Given the description of an element on the screen output the (x, y) to click on. 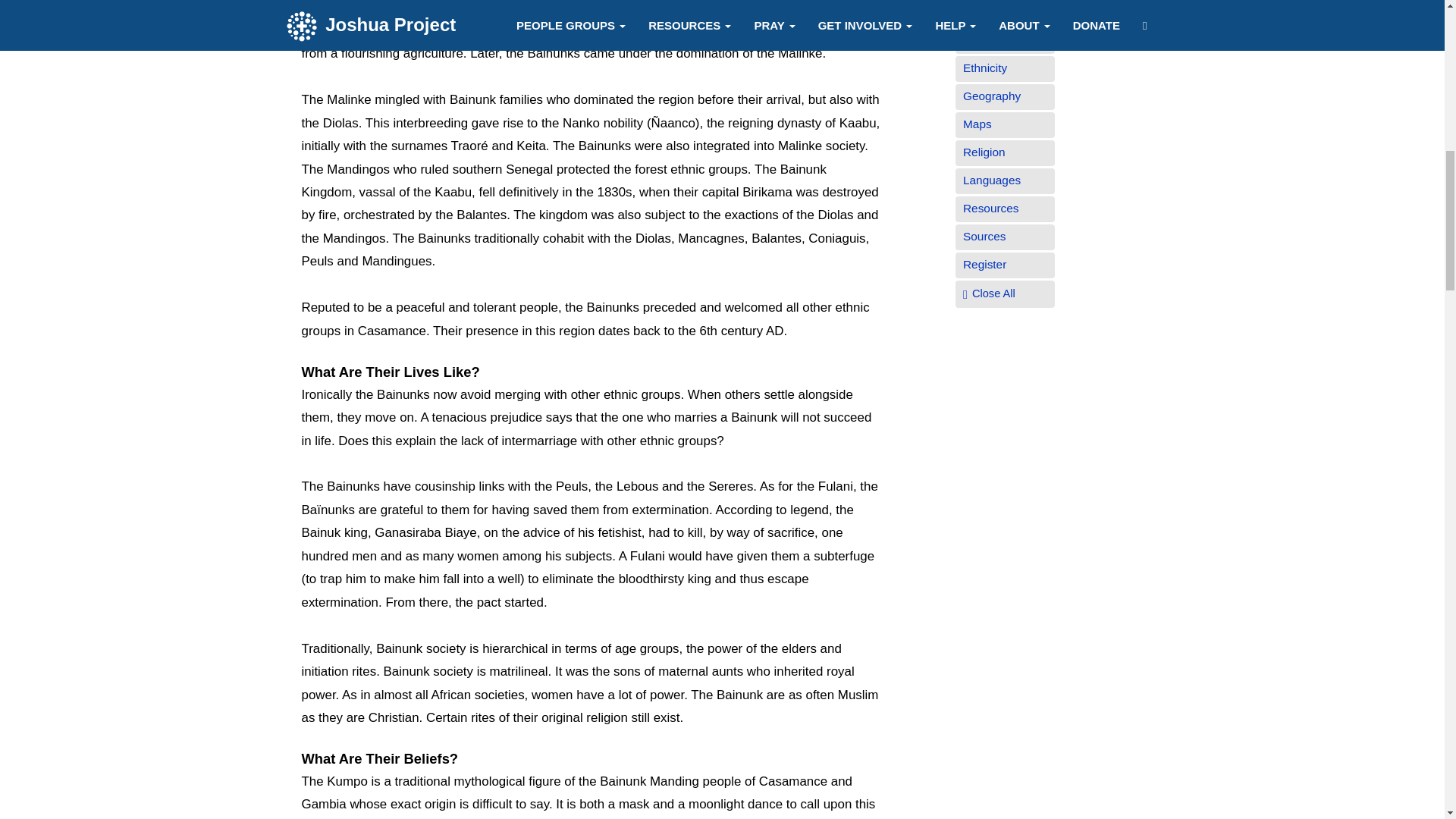
Close All (994, 293)
